Given the description of an element on the screen output the (x, y) to click on. 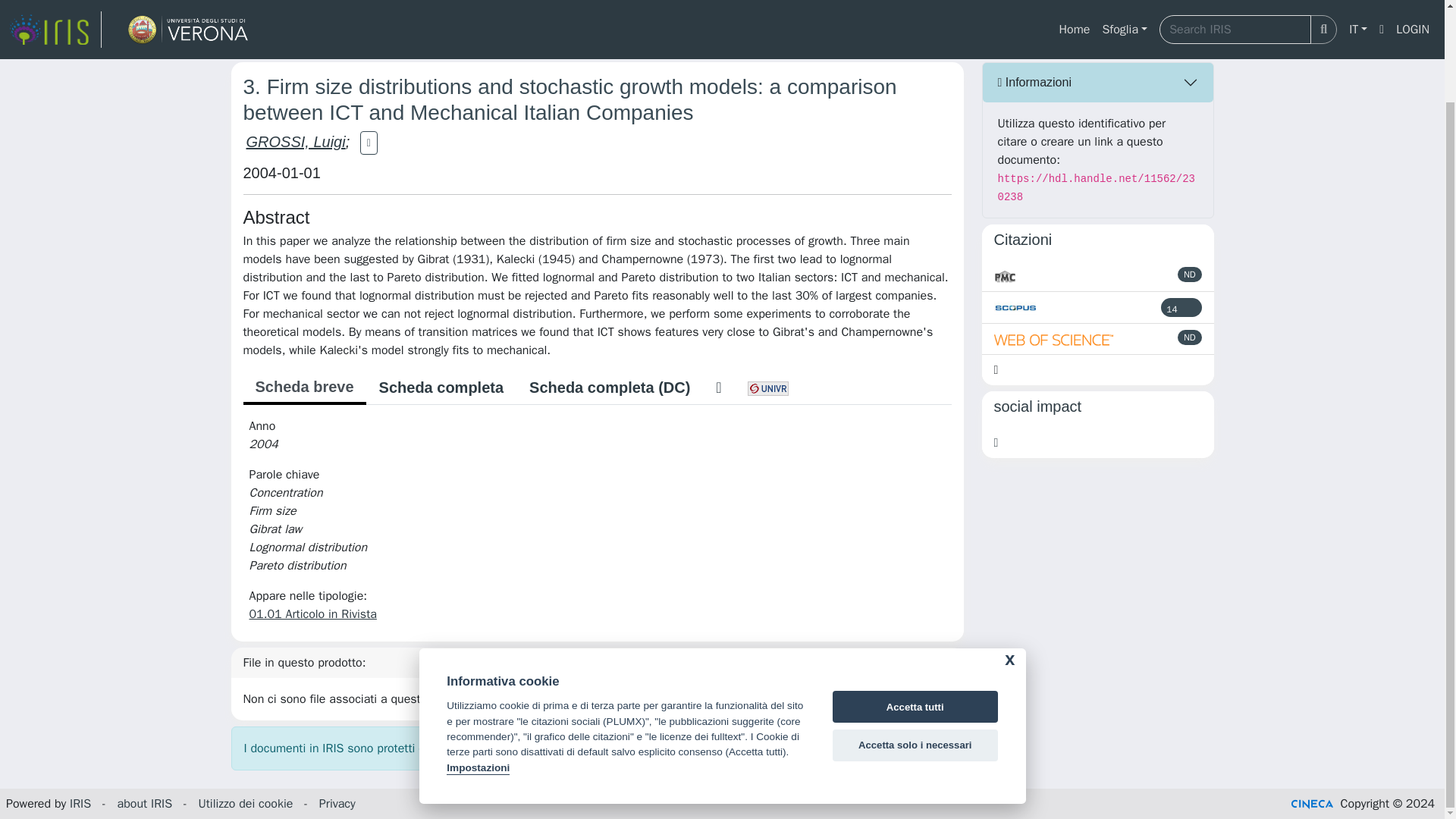
01 Contributo in rivista (425, 40)
01.01 Articolo in Rivista (311, 613)
Scheda breve (304, 387)
IRIS (79, 803)
Scheda completa (441, 387)
01.01 Articolo in Rivista (567, 40)
 Informazioni (1097, 82)
IRIS (240, 40)
GROSSI, Luigi (295, 141)
SIARI VERONA (308, 40)
